Given the description of an element on the screen output the (x, y) to click on. 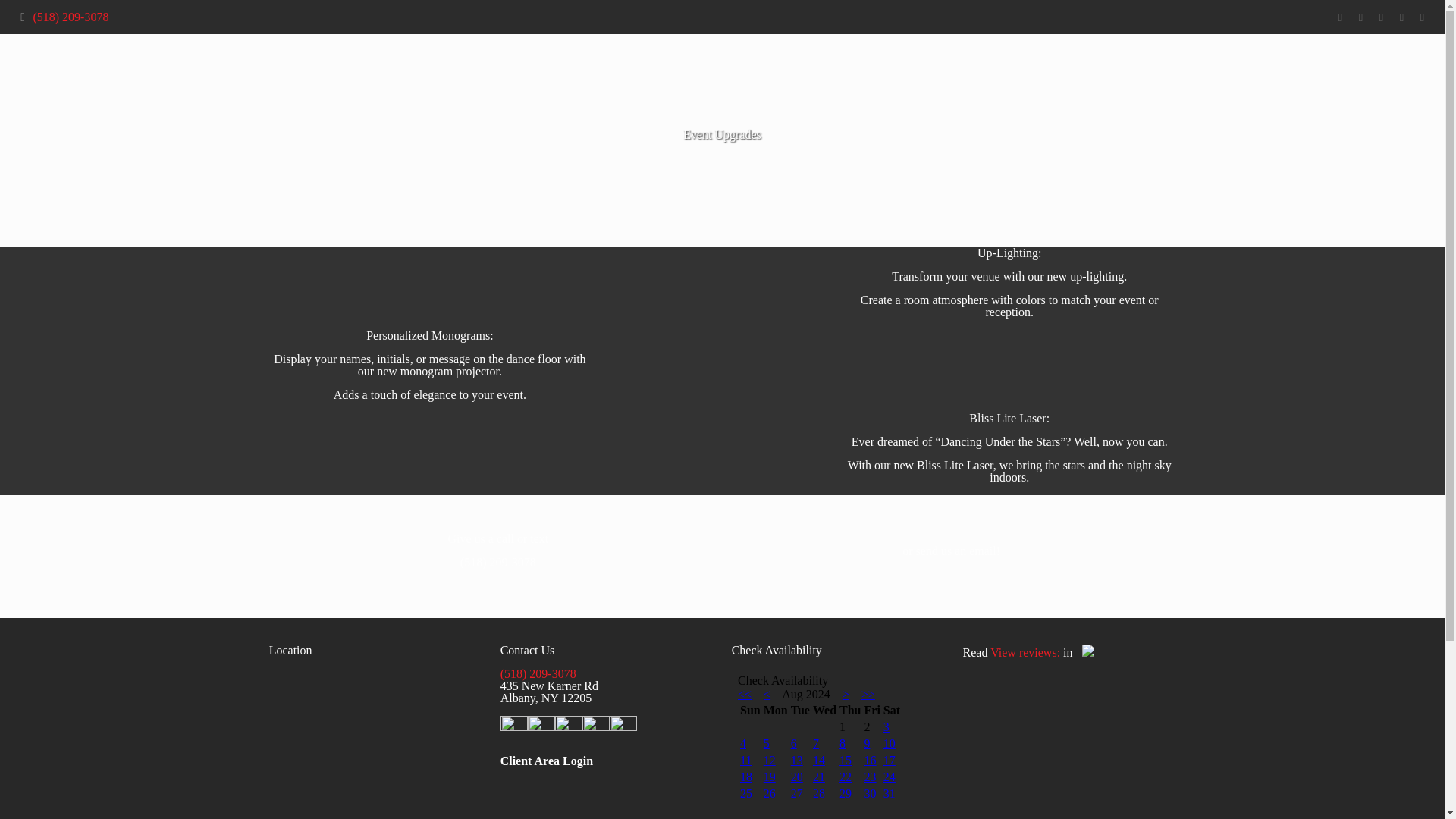
Instagram (1421, 17)
Pinterest (1401, 17)
Facebook (1340, 17)
Twitter (1360, 17)
Vimeo (1381, 17)
